Given the description of an element on the screen output the (x, y) to click on. 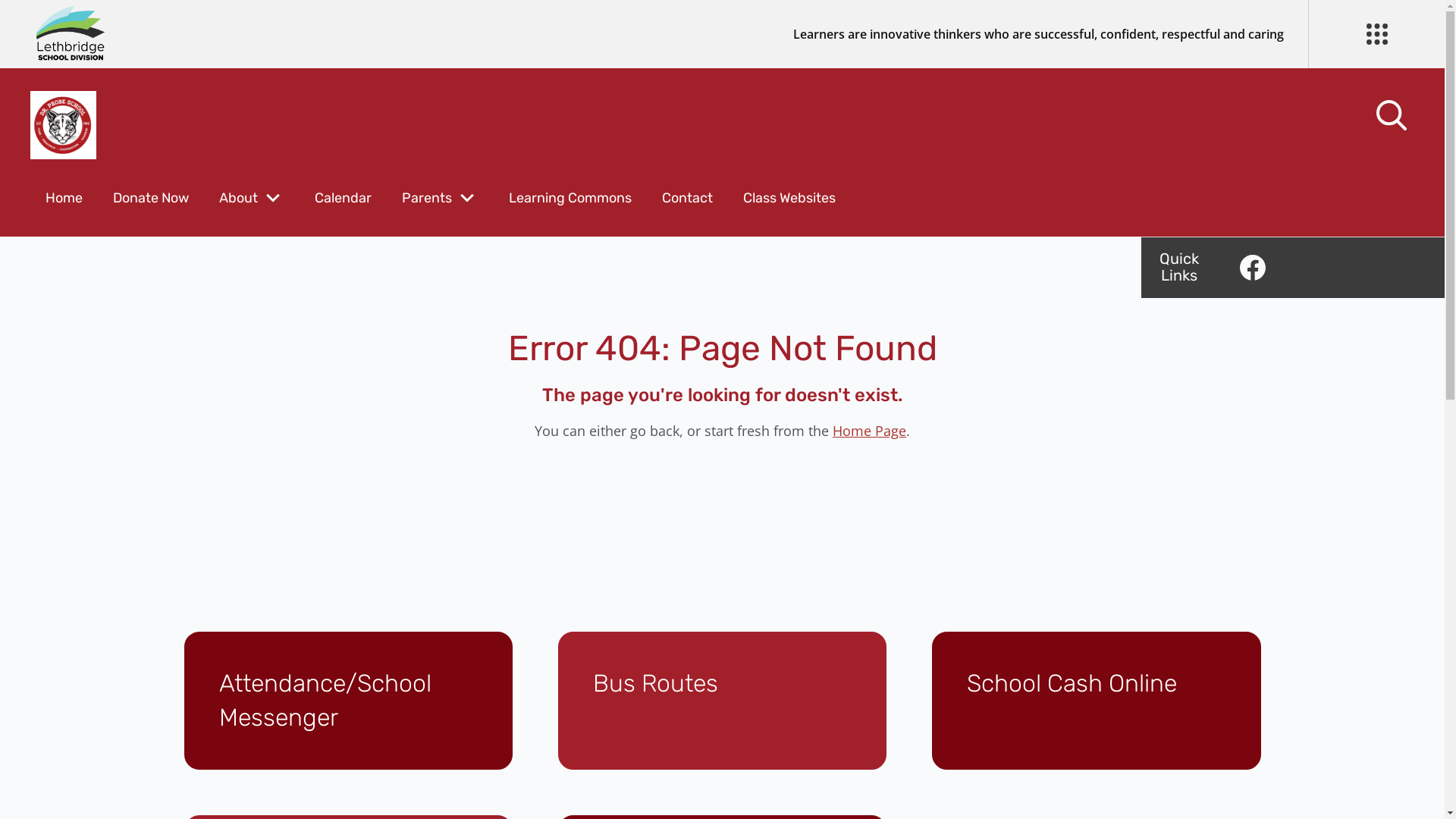
Attendance/School Messenger Element type: text (347, 700)
Search Element type: text (45, 19)
Home Element type: text (63, 197)
About Element type: text (238, 197)
Home Page Element type: text (869, 430)
Dr. Gerald B. Probe Elementary School's Facebook Element type: hover (1252, 267)
Class Websites Element type: text (789, 197)
Donate Now Element type: text (150, 197)
Bus Routes Element type: text (722, 700)
School Cash Online Element type: text (1095, 700)
Contact Element type: text (687, 197)
home Element type: hover (63, 125)
Parents Element type: text (426, 197)
Quick Links Element type: text (1179, 267)
Learning Commons Element type: text (569, 197)
Calendar Element type: text (342, 197)
